Given the description of an element on the screen output the (x, y) to click on. 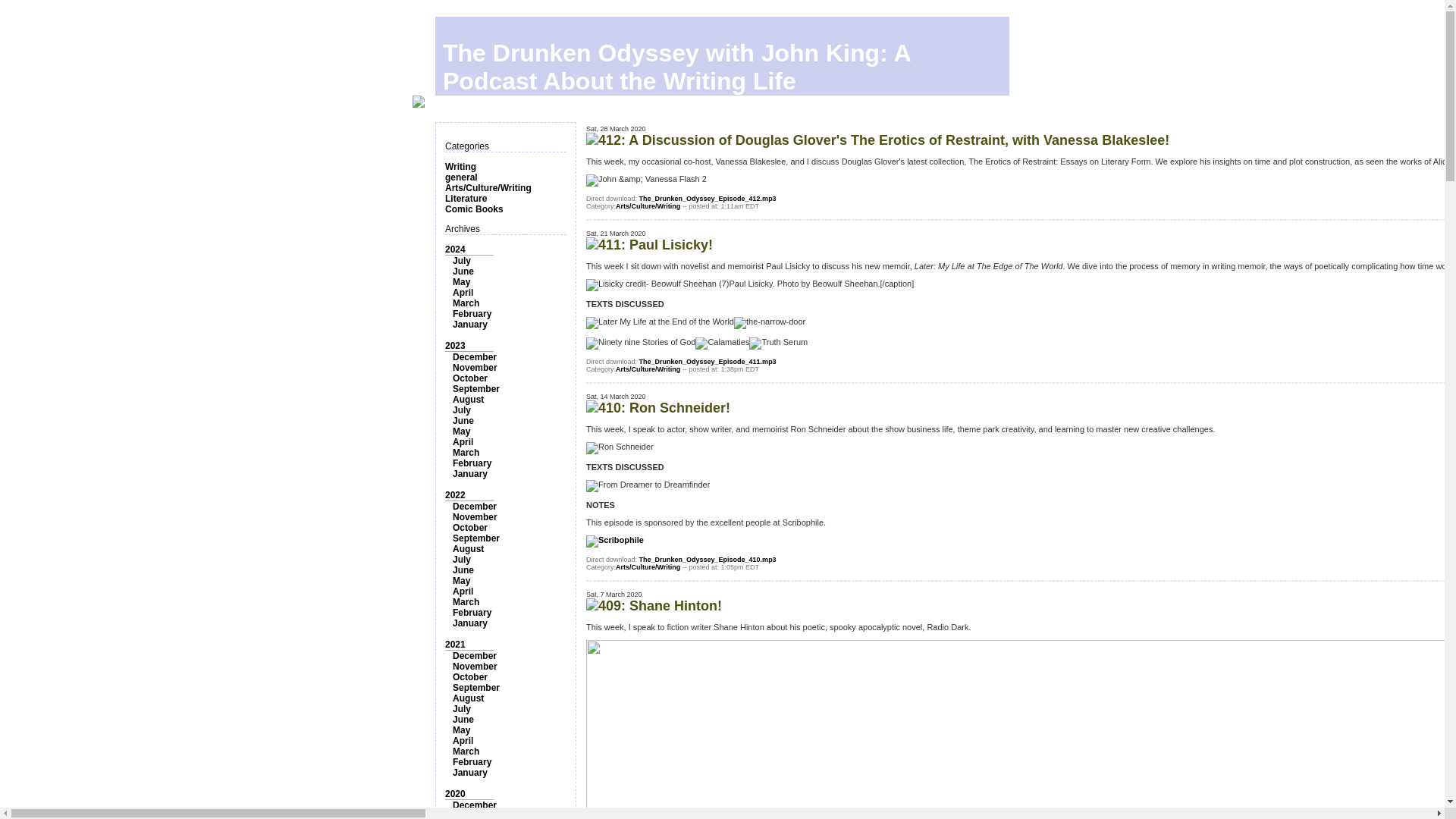
January (469, 623)
June (463, 420)
December (474, 506)
May (461, 281)
November (474, 367)
October (469, 527)
general (461, 176)
June (463, 570)
February (472, 462)
July (461, 260)
Comic Books (474, 208)
July (461, 409)
March (465, 303)
April (462, 591)
May (461, 430)
